Given the description of an element on the screen output the (x, y) to click on. 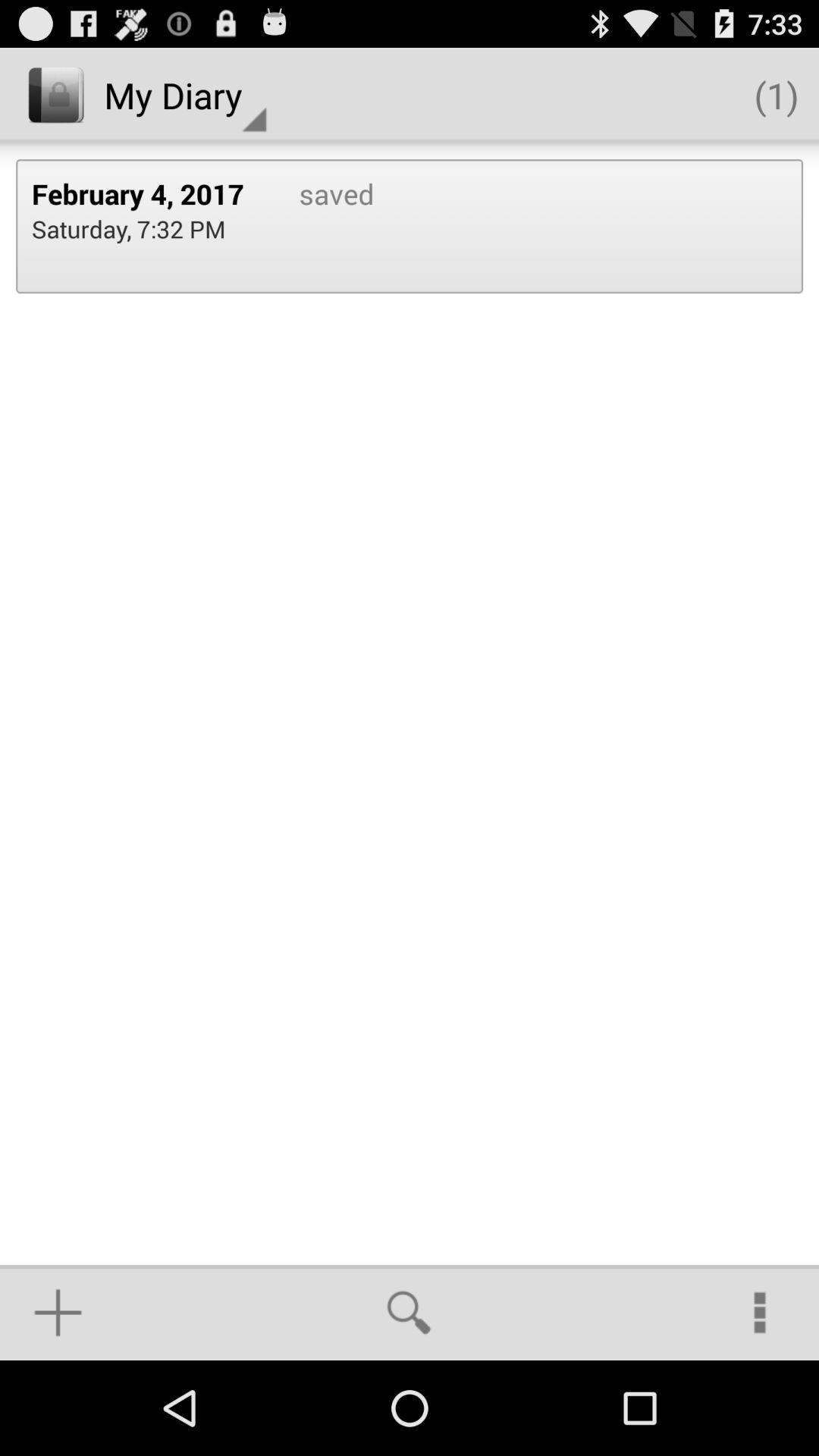
turn off button below my diary button (149, 193)
